Given the description of an element on the screen output the (x, y) to click on. 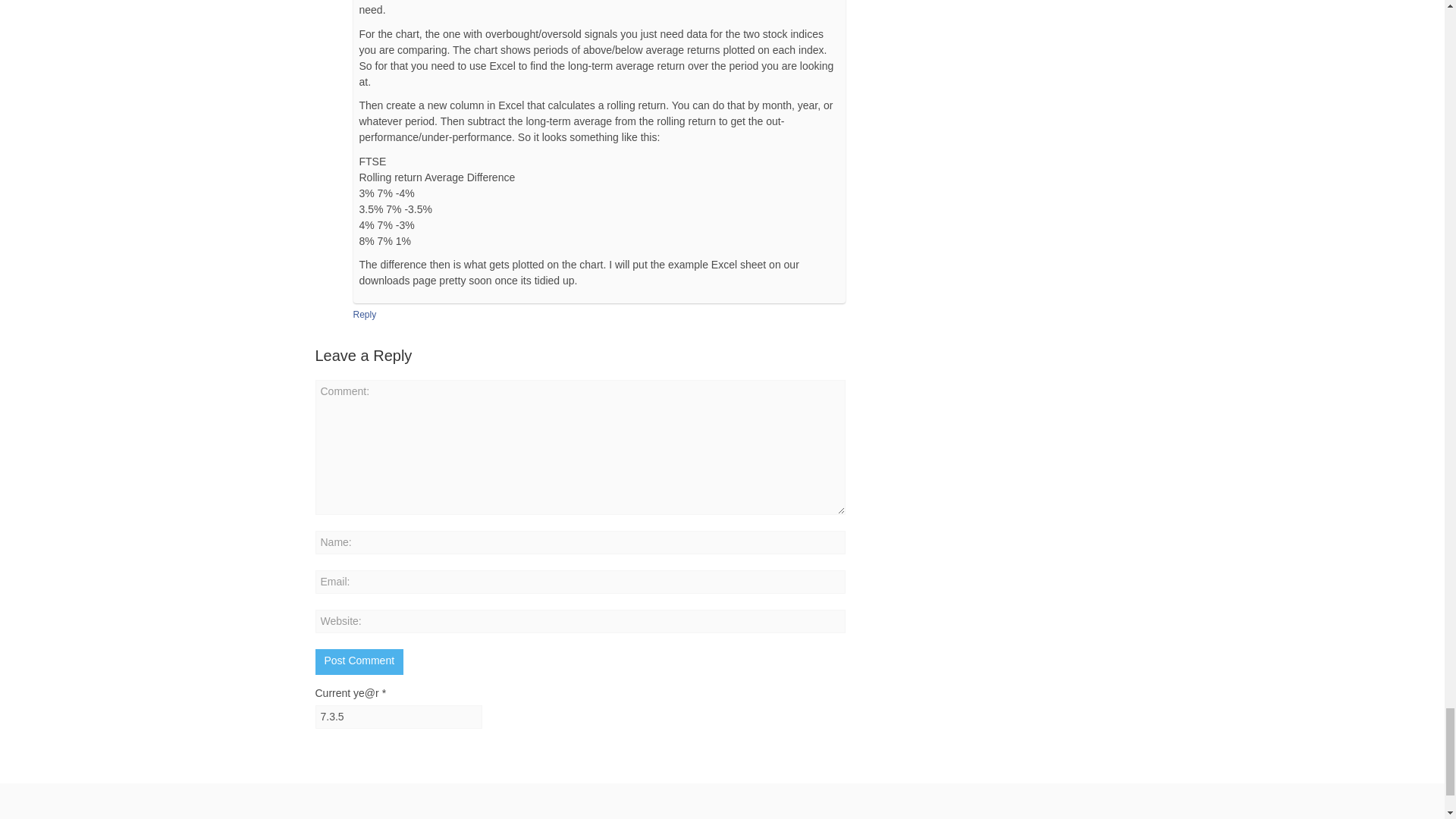
Post Comment (359, 661)
7.3.5 (398, 716)
